Given the description of an element on the screen output the (x, y) to click on. 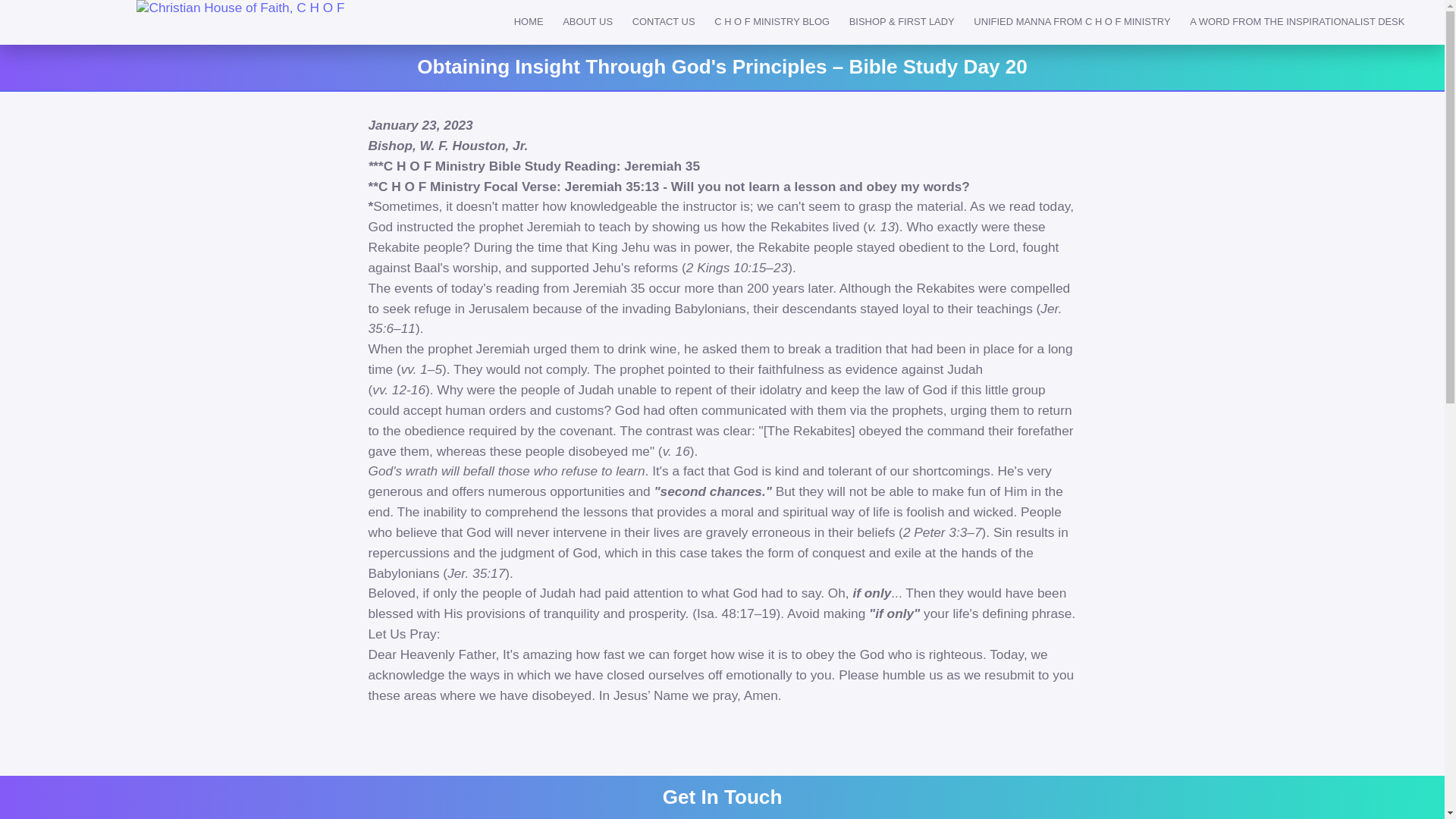
CONTACT US (663, 22)
ABOUT US (588, 22)
A WORD FROM THE INSPIRATIONALIST DESK (1296, 22)
UNIFIED MANNA FROM C H O F MINISTRY (1071, 22)
C H O F MINISTRY BLOG (772, 22)
HOME (528, 22)
